Given the description of an element on the screen output the (x, y) to click on. 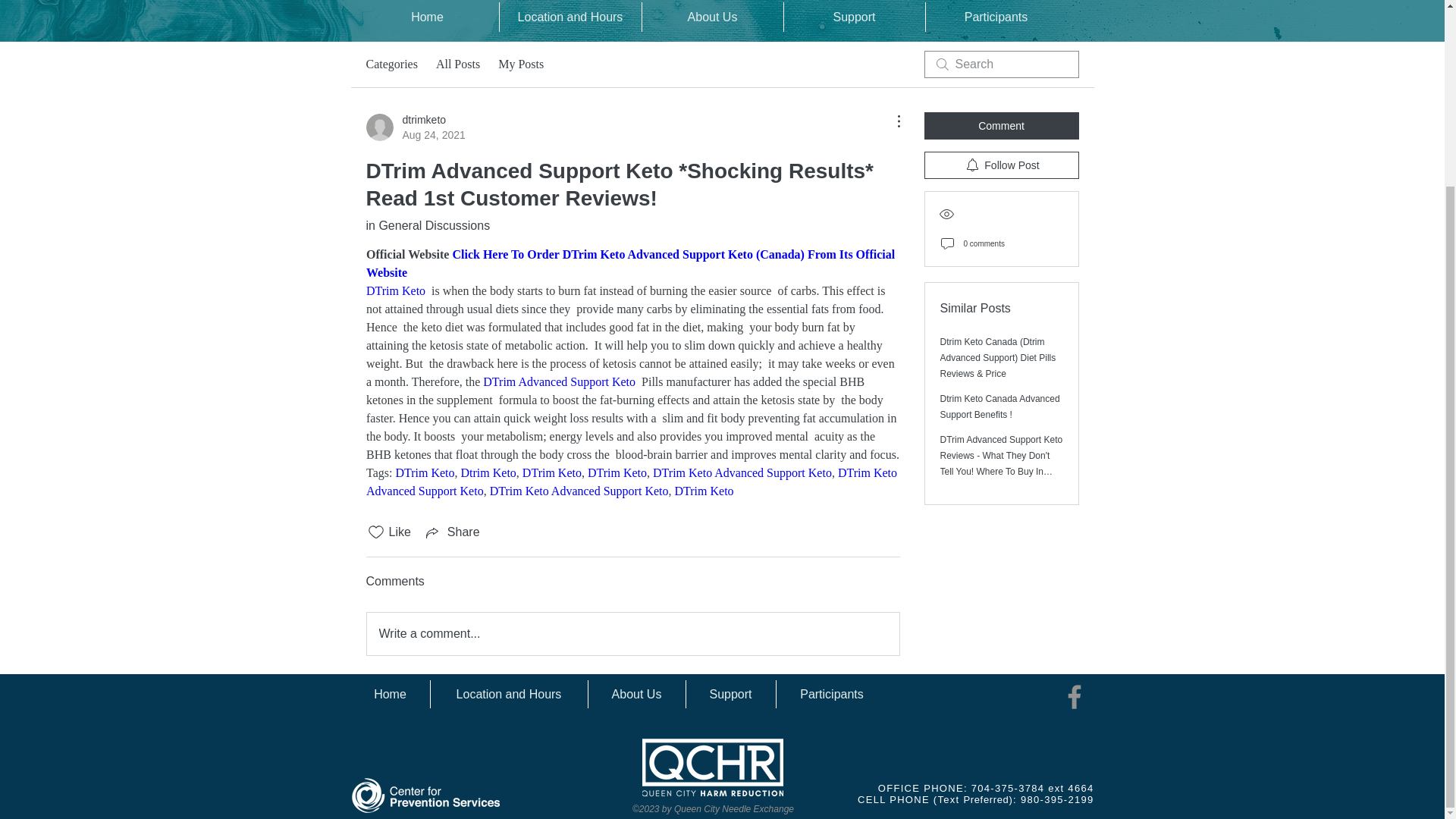
Categories (390, 64)
DTrim Keto (616, 472)
My Posts (520, 64)
DTrim Keto (424, 472)
Home (427, 16)
About Us (712, 16)
in General Discussions (427, 225)
Location and Hours (569, 16)
DTrim Keto  (705, 490)
DTrim Keto Advanced Support Keto (631, 481)
Dtrim Keto (414, 127)
DTrim Keto Advanced Support Keto (487, 472)
All Posts (578, 490)
DTrim Keto (457, 64)
